Given the description of an element on the screen output the (x, y) to click on. 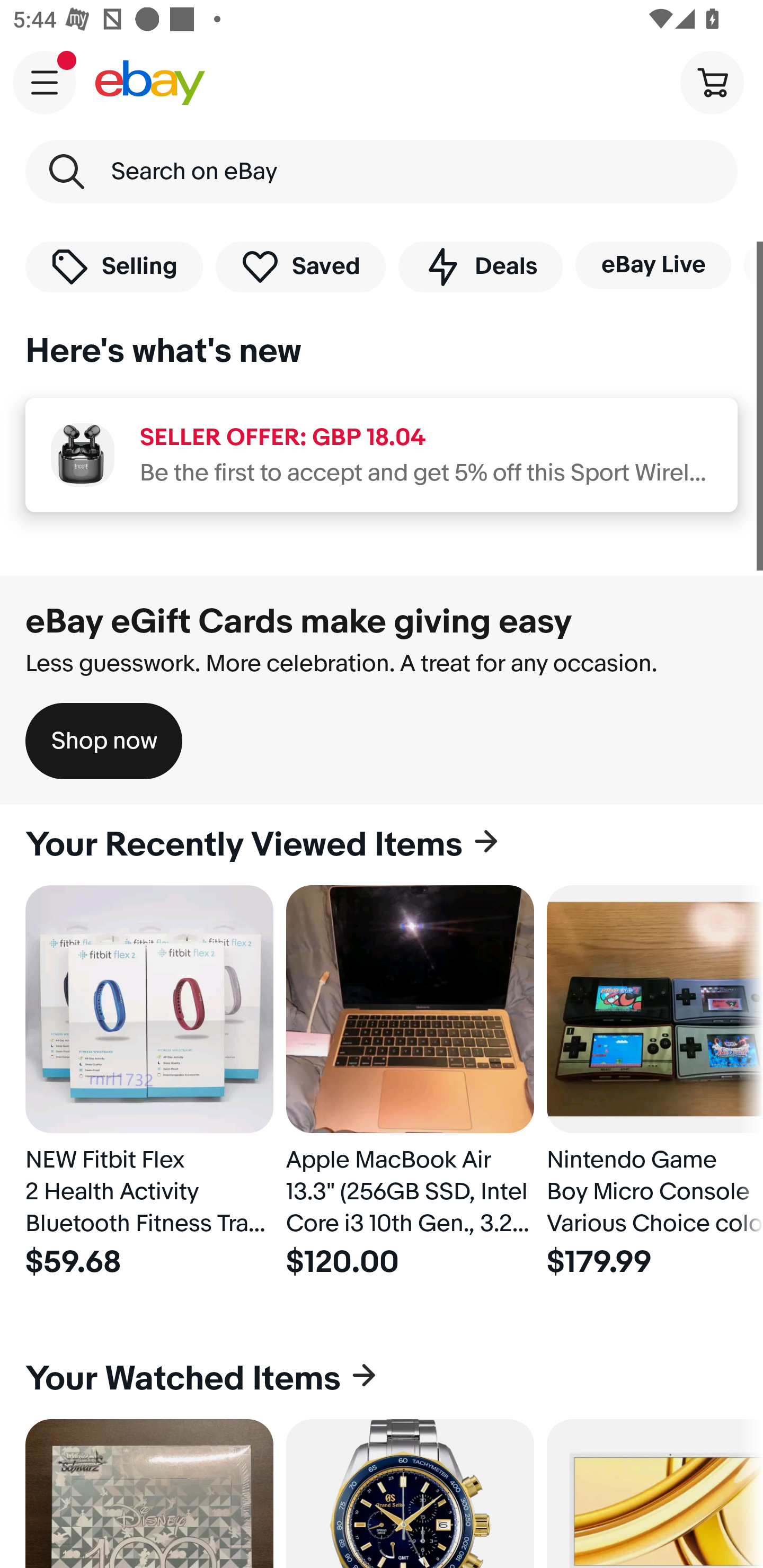
Main navigation, notification is pending, open (44, 82)
Cart button shopping cart (711, 81)
Search on eBay Search Keyword Search on eBay (381, 171)
Selling (113, 266)
Saved (300, 266)
Deals (480, 266)
eBay Live (652, 264)
eBay eGift Cards make giving easy (298, 621)
Shop now (103, 740)
Your Recently Viewed Items   (381, 844)
Your Watched Items   (381, 1379)
